Given the description of an element on the screen output the (x, y) to click on. 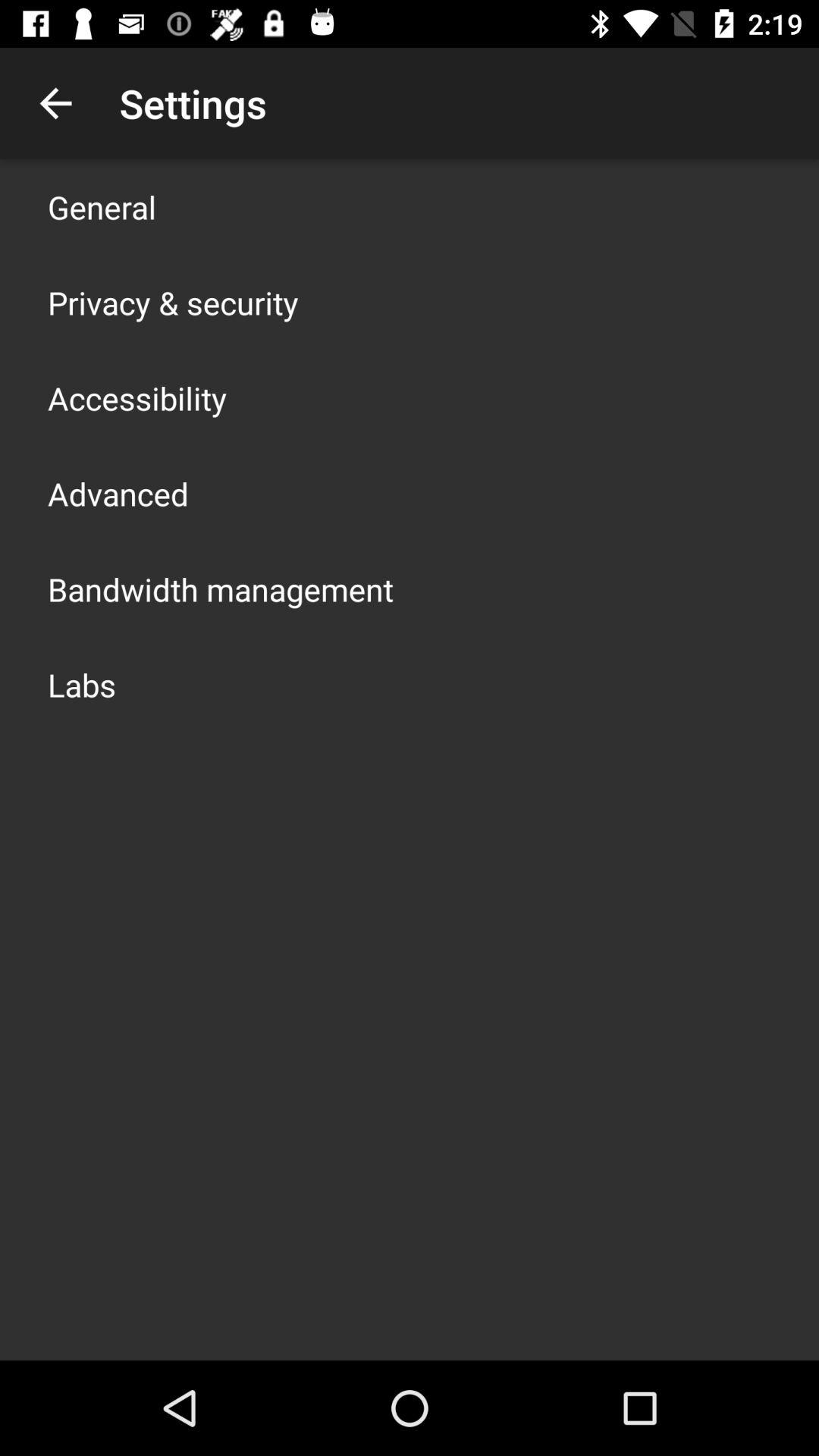
choose the accessibility item (136, 397)
